Given the description of an element on the screen output the (x, y) to click on. 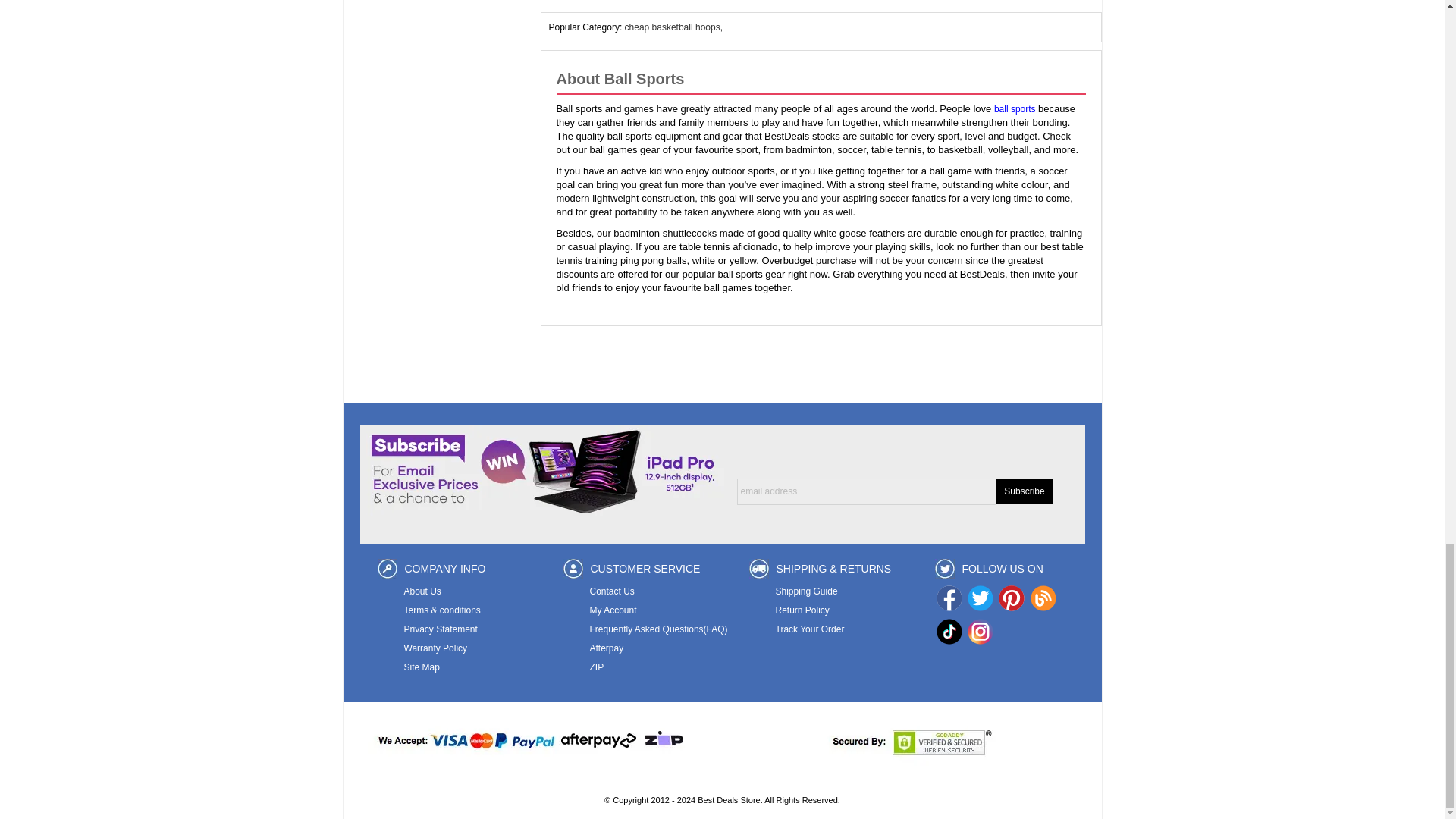
Subscribe (1023, 491)
